Given the description of an element on the screen output the (x, y) to click on. 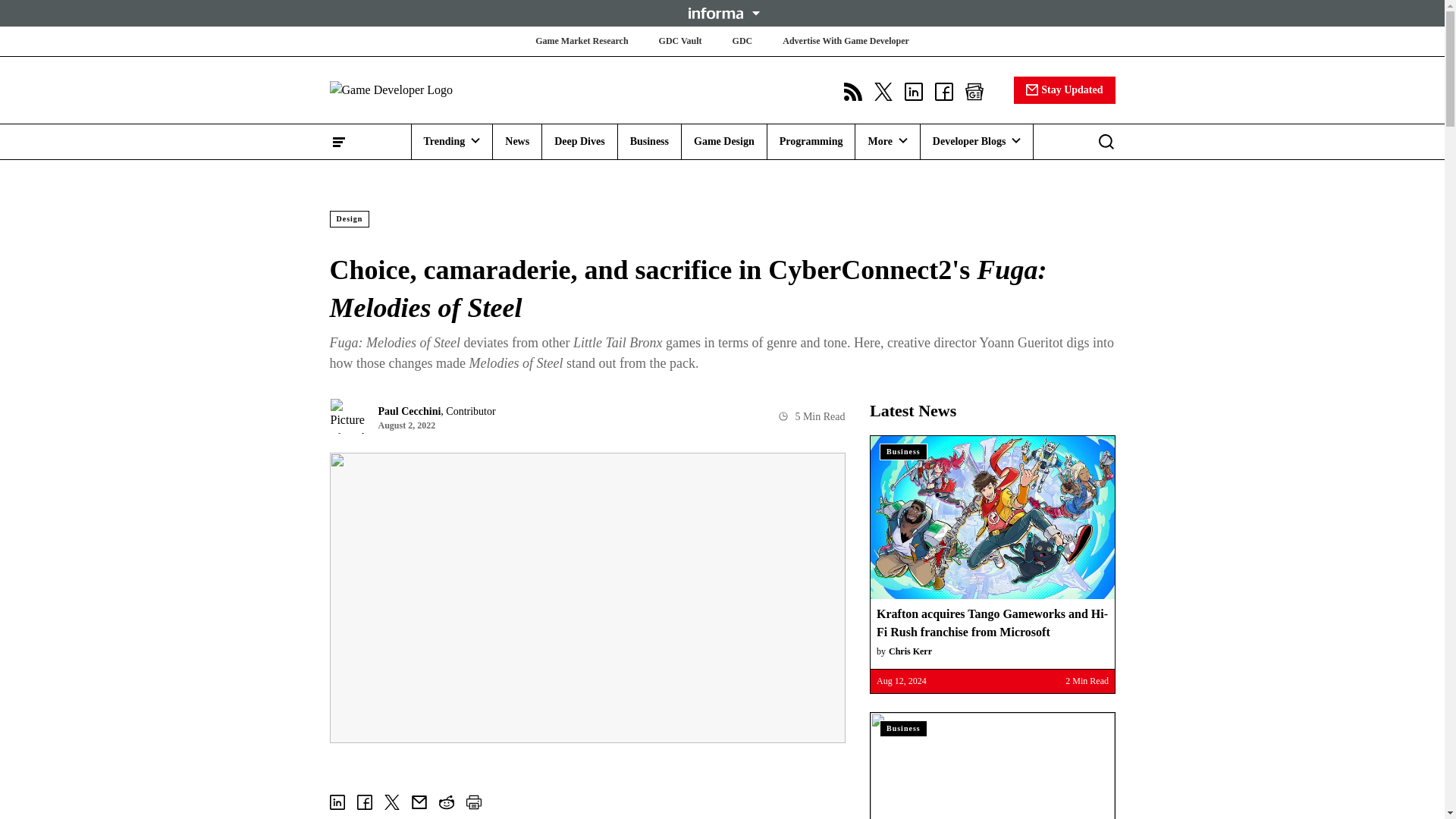
Game Market Research (581, 41)
Programming (810, 141)
Picture of Paul Cecchini (347, 416)
GDC (742, 41)
Business (649, 141)
Game Design (724, 141)
News (517, 141)
GDC Vault (680, 41)
Advertise With Game Developer (845, 41)
Game Developer Logo (419, 90)
